Given the description of an element on the screen output the (x, y) to click on. 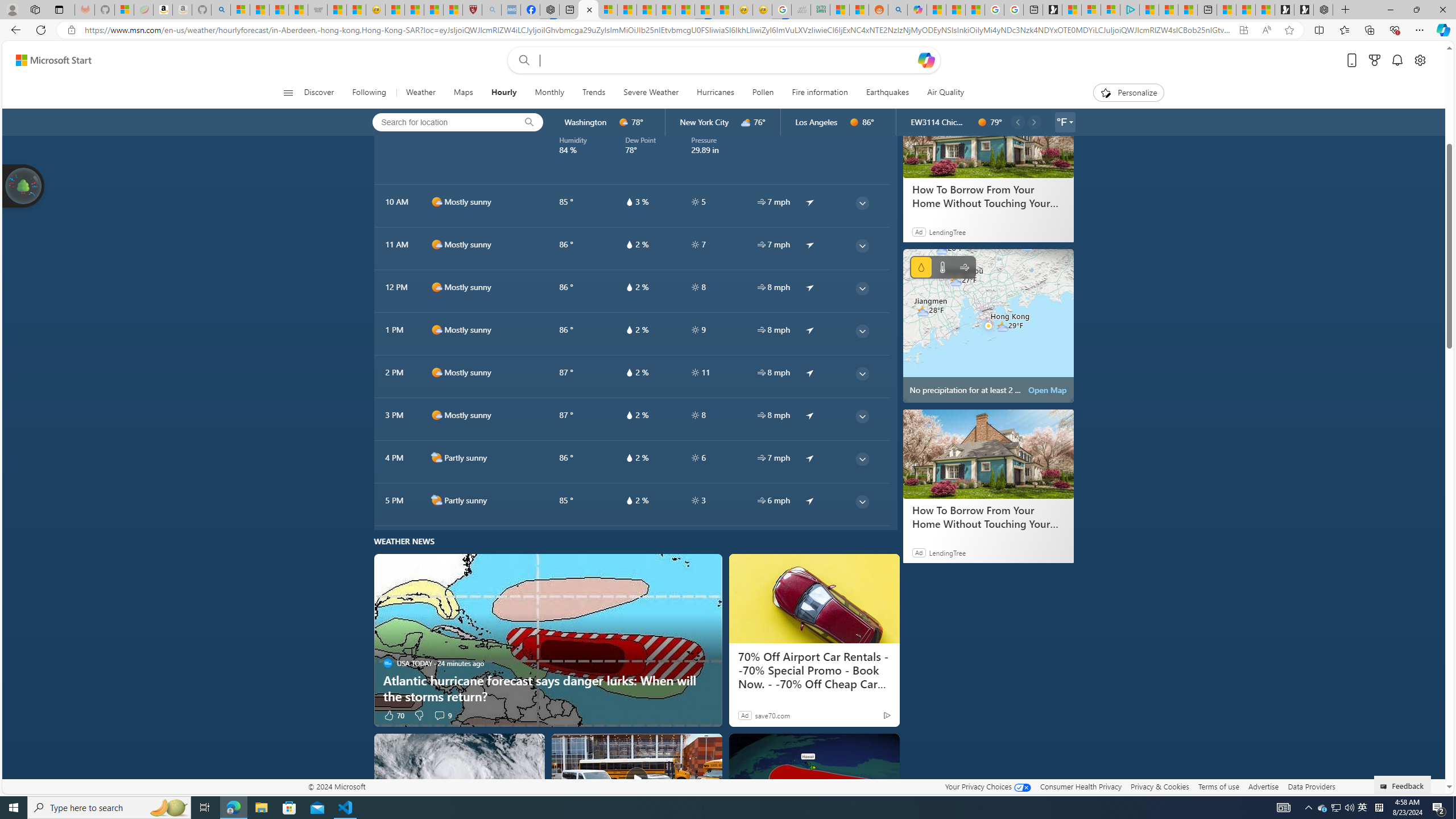
Terms of use (1218, 785)
12 Popular Science Lies that Must be Corrected (452, 9)
Maps (462, 92)
Earthquakes (888, 92)
